Given the description of an element on the screen output the (x, y) to click on. 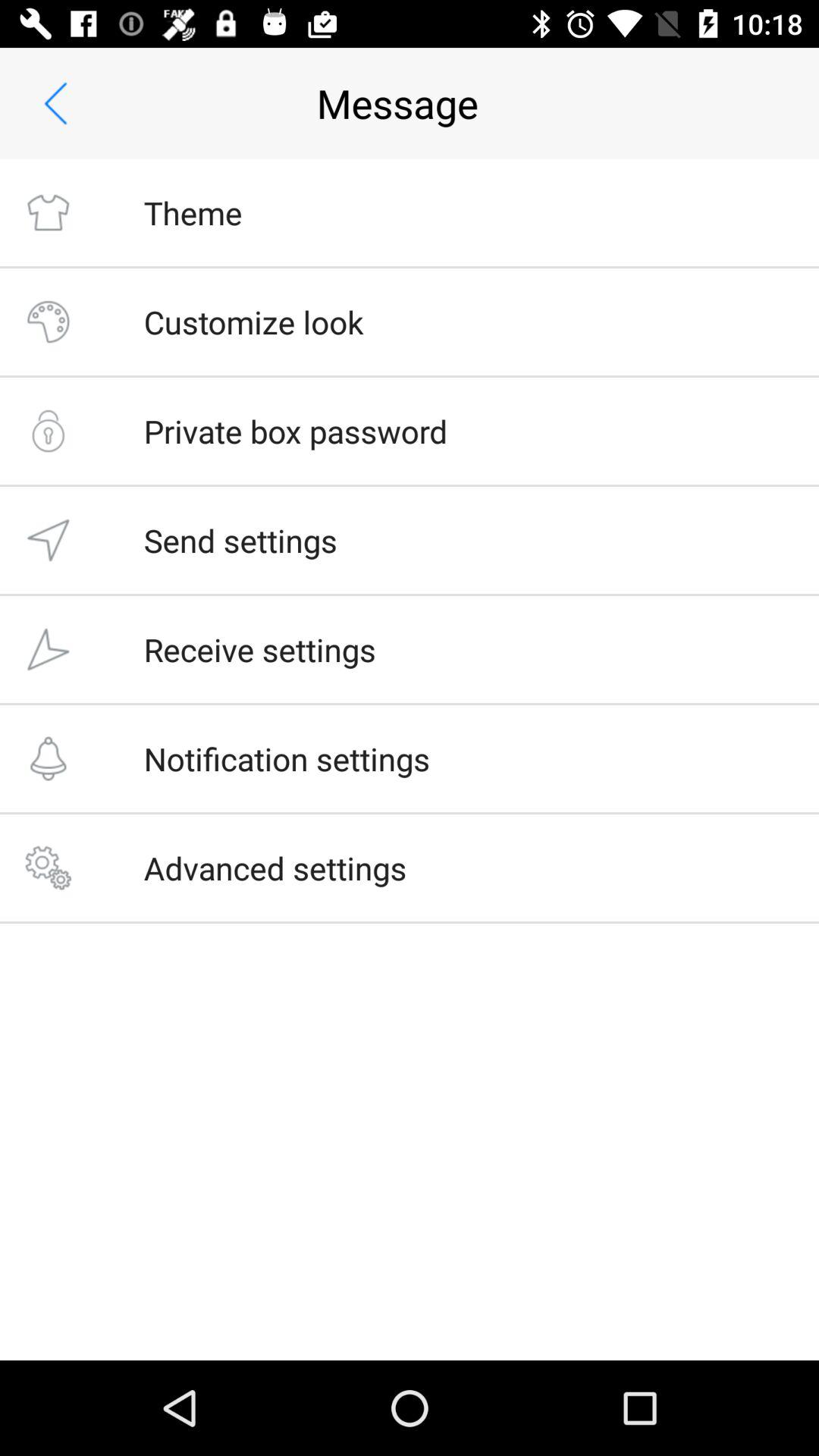
turn on the app below the message (192, 212)
